Given the description of an element on the screen output the (x, y) to click on. 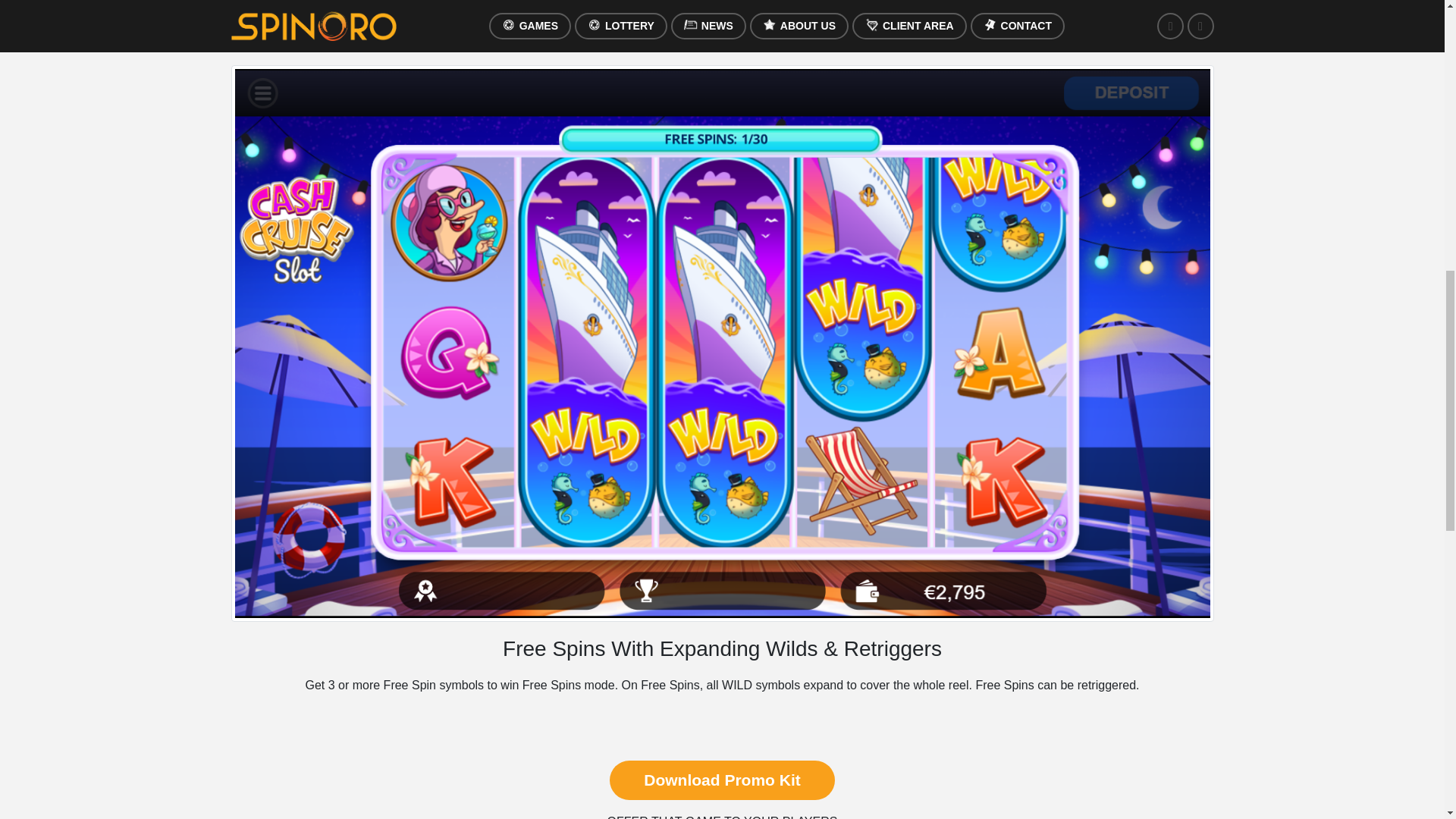
Download Promo Kit (722, 780)
